Given the description of an element on the screen output the (x, y) to click on. 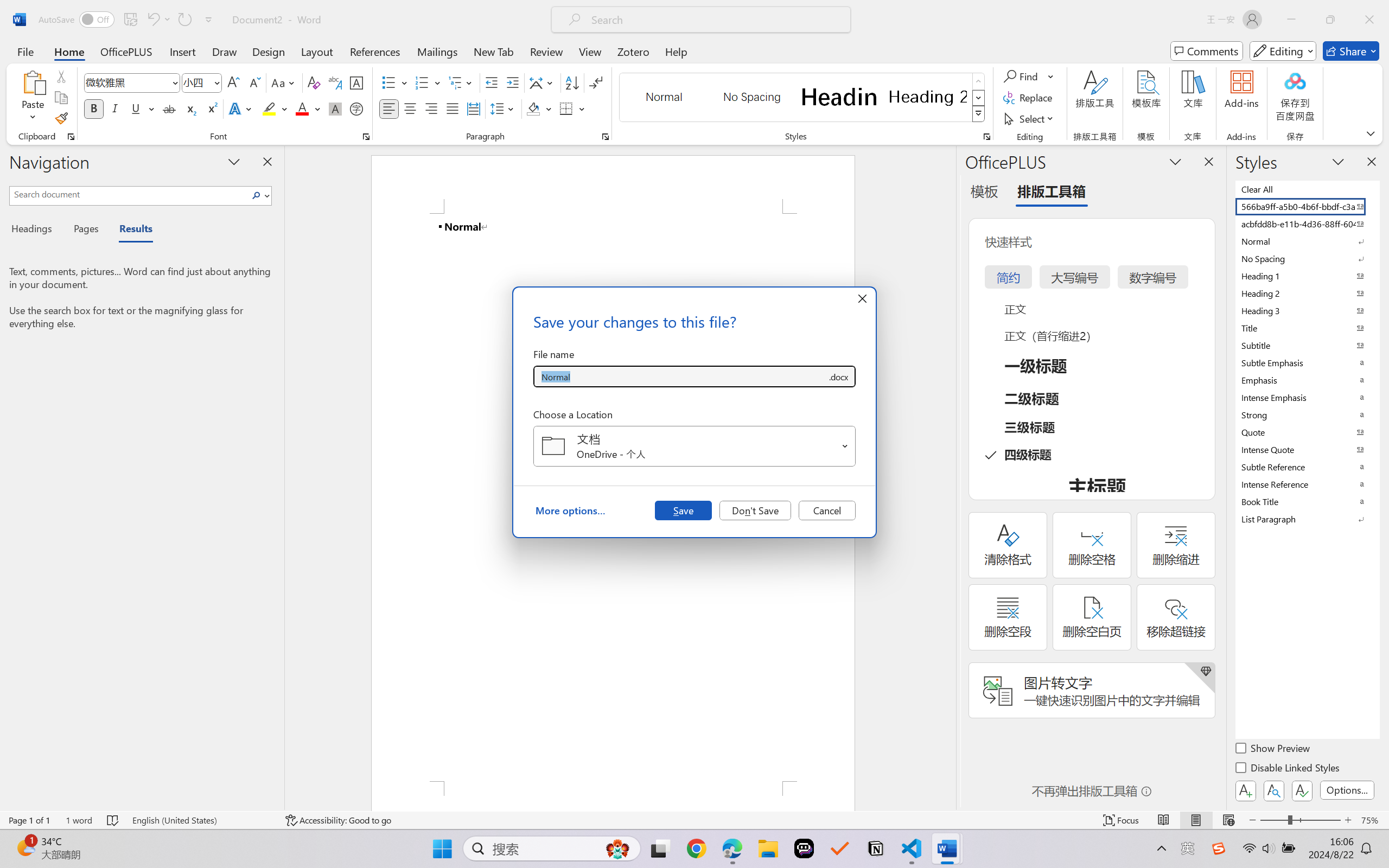
Font Size (201, 82)
Asian Layout (542, 82)
Format Painter (60, 118)
Class: NetUIImage (978, 114)
Copy (60, 97)
Book Title (1306, 501)
Intense Quote (1306, 449)
Paste (33, 97)
References (375, 51)
Replace... (1029, 97)
